Given the description of an element on the screen output the (x, y) to click on. 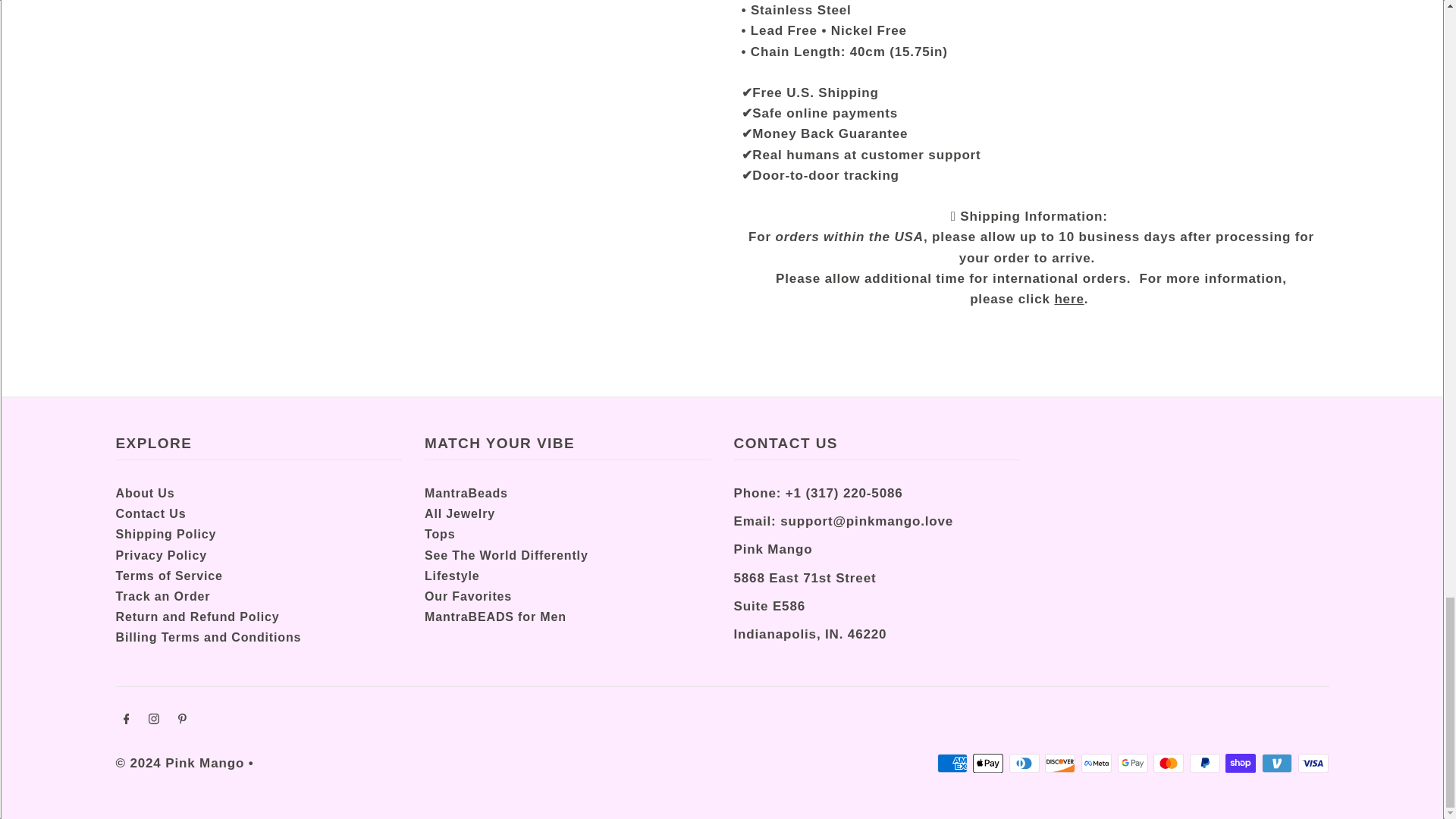
Discover (1060, 763)
American Express (952, 763)
Diners Club (1024, 763)
Order and Shipping Information (1068, 298)
Apple Pay (987, 763)
Meta Pay (1096, 763)
